Given the description of an element on the screen output the (x, y) to click on. 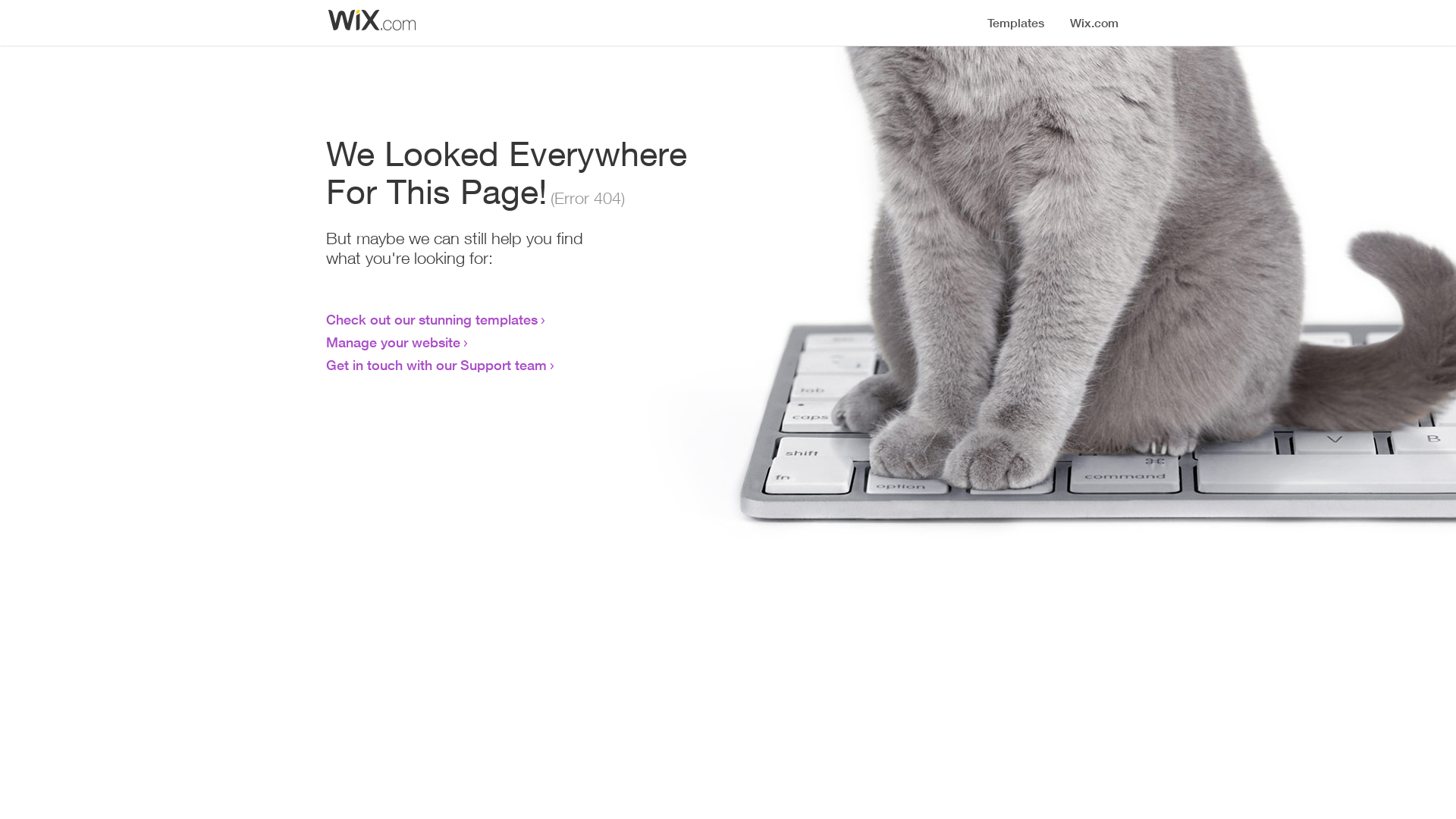
Manage your website Element type: text (393, 341)
Check out our stunning templates Element type: text (431, 318)
Get in touch with our Support team Element type: text (436, 364)
